Given the description of an element on the screen output the (x, y) to click on. 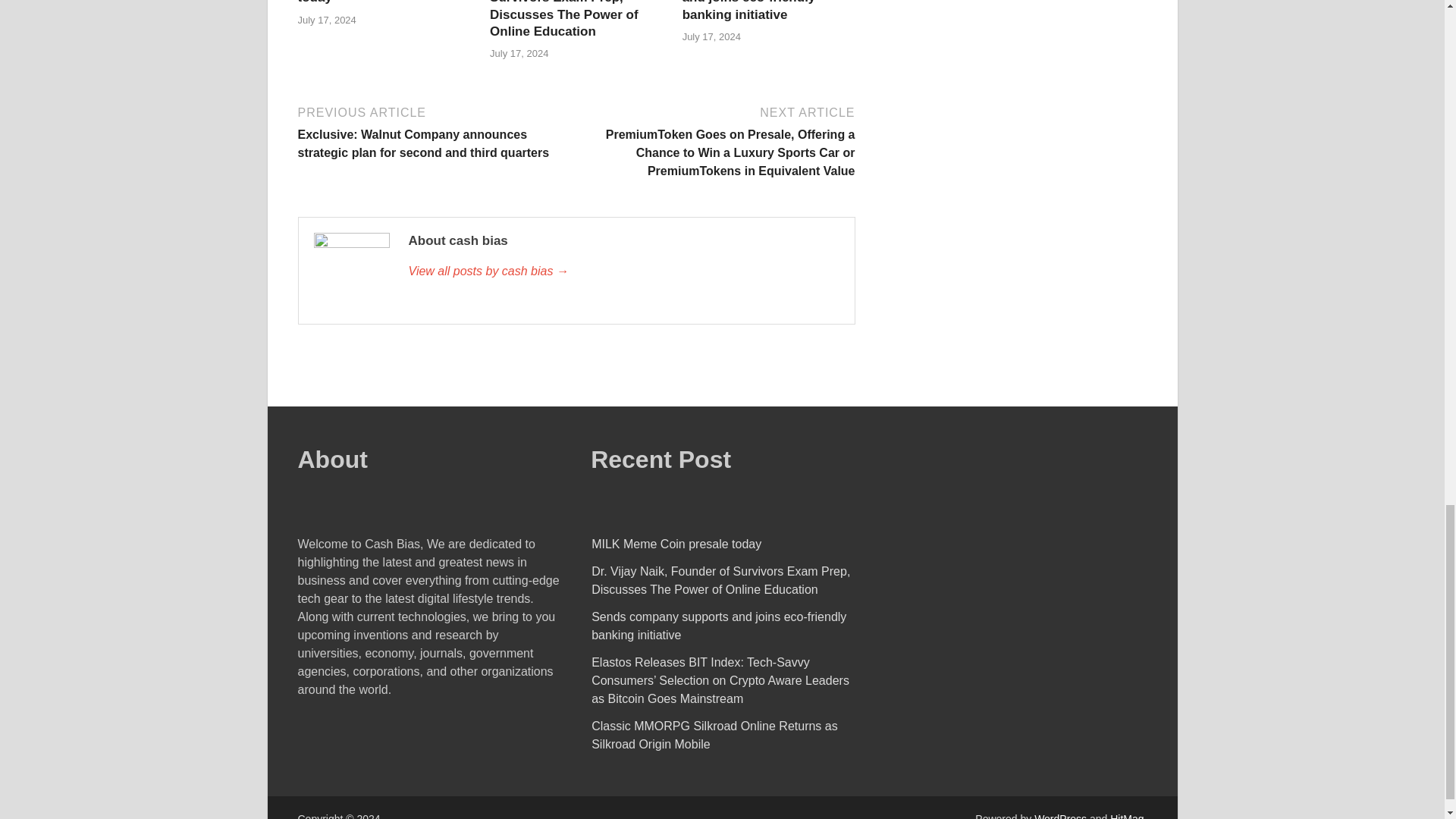
MILK Meme Coin presale today (373, 2)
MILK Meme Coin presale today (373, 2)
cash bias (622, 271)
